Given the description of an element on the screen output the (x, y) to click on. 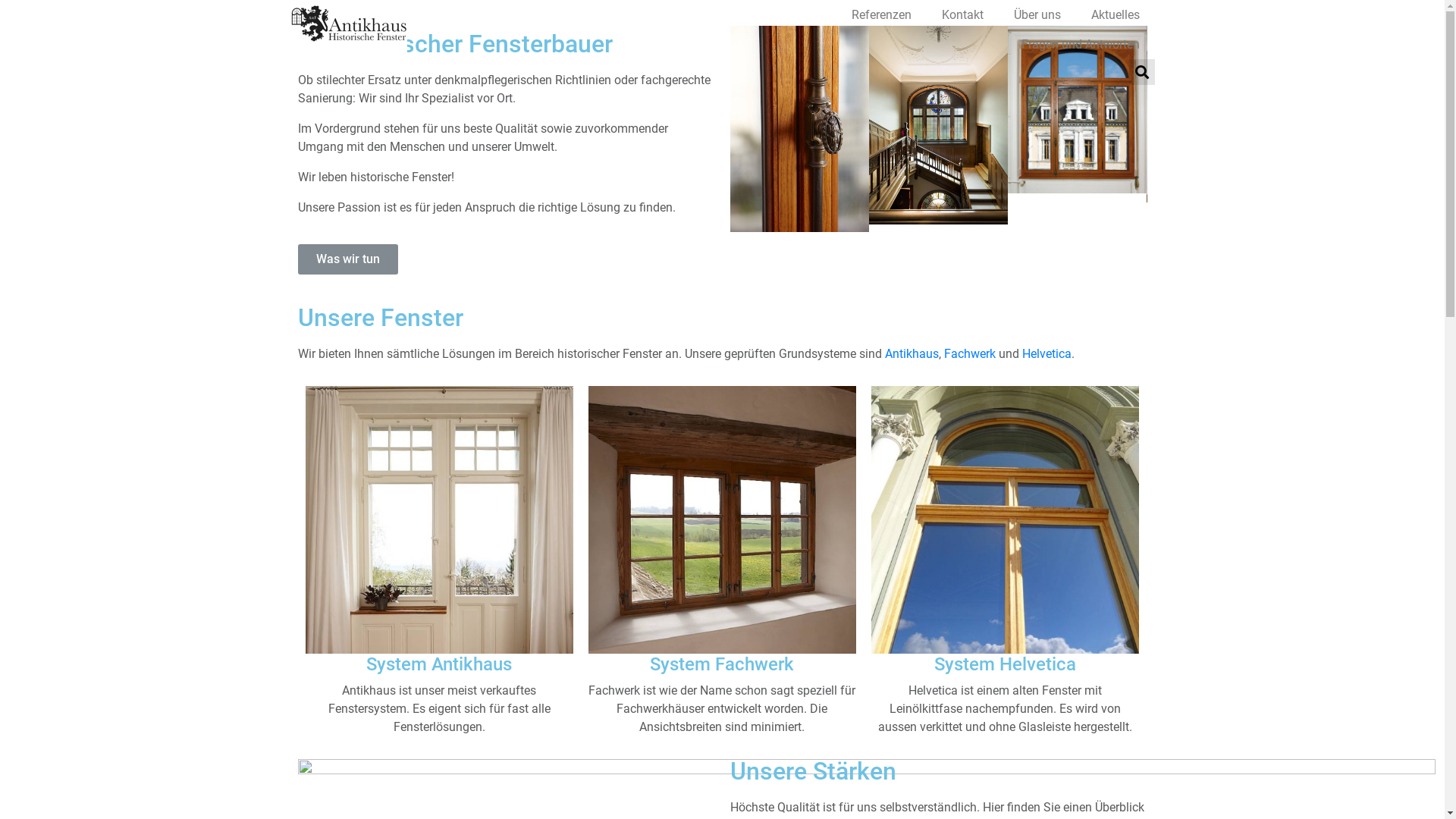
System Helvetica Element type: text (1005, 663)
Antikhaus Element type: text (911, 353)
balkontuer-kombination Element type: hover (438, 519)
Fachwerk Element type: text (968, 353)
Aktuelles Element type: text (1114, 14)
Helvetica Element type: text (1046, 353)
eichenfenster-helvetic-bundeshaus Element type: hover (1005, 519)
Referenzen Element type: text (880, 14)
sprossenfenster-eiche-im-gruenen Element type: hover (722, 519)
System Antikhaus Element type: text (438, 663)
Fragen und Antworten Element type: text (1079, 44)
Was wir tun Element type: text (347, 259)
System Fachwerk Element type: text (721, 663)
Kontakt Element type: text (962, 14)
